Given the description of an element on the screen output the (x, y) to click on. 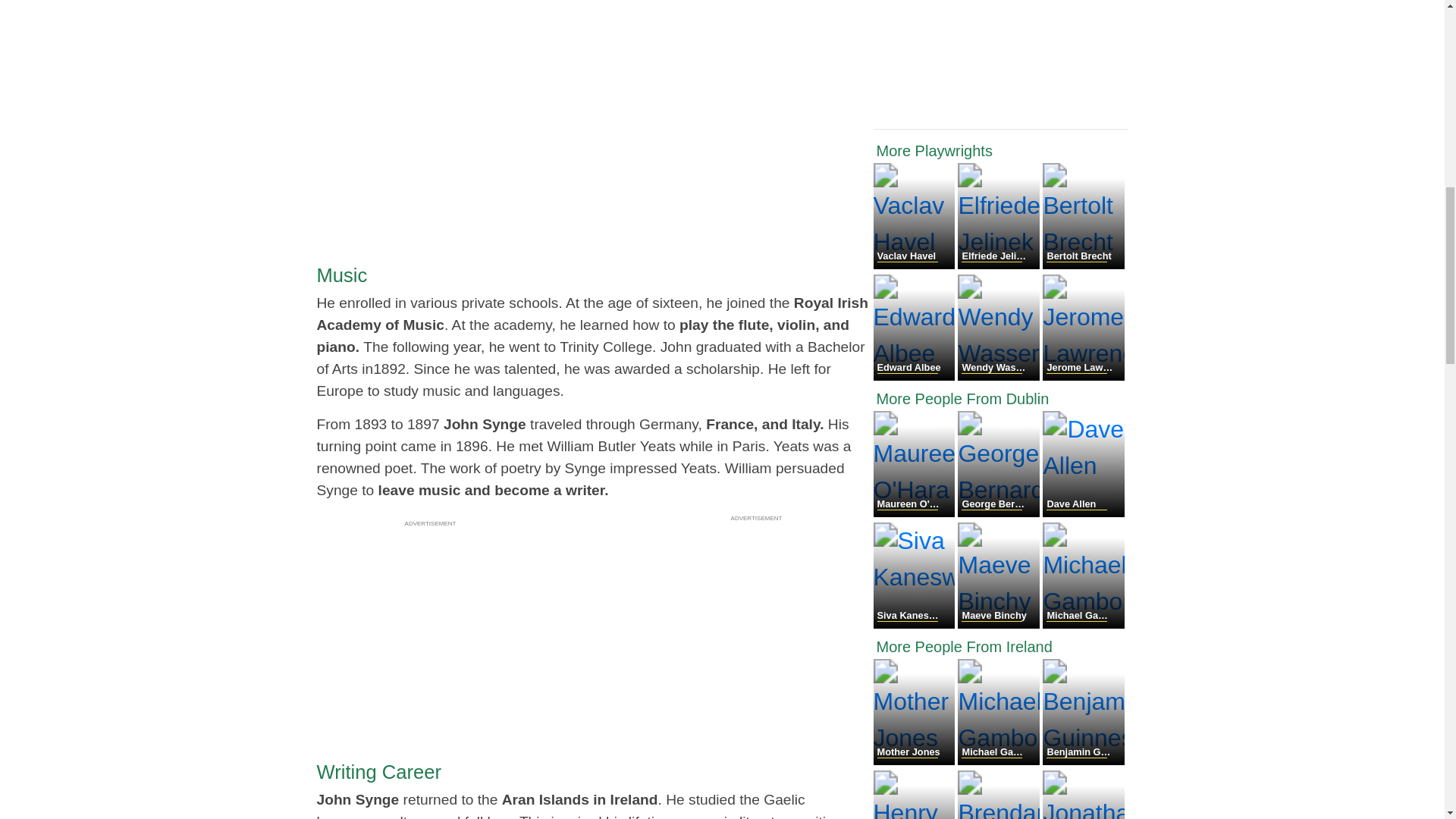
Dave Allen (1083, 512)
Siva Kaneswaran (915, 624)
Edward Albee (915, 376)
More People From Dublin (1000, 398)
Maureen O'Hara (915, 512)
Wendy Wasserstein (1000, 376)
Mother Jones (915, 760)
Bertolt Brecht (1083, 264)
Maeve Binchy (1000, 624)
Michael Gambon (1000, 760)
Michael Gambon (1083, 624)
George Bernard Shaw (1000, 512)
More People From Ireland (1000, 647)
Benjamin Guinness (1083, 760)
Vaclav Havel (915, 264)
